Given the description of an element on the screen output the (x, y) to click on. 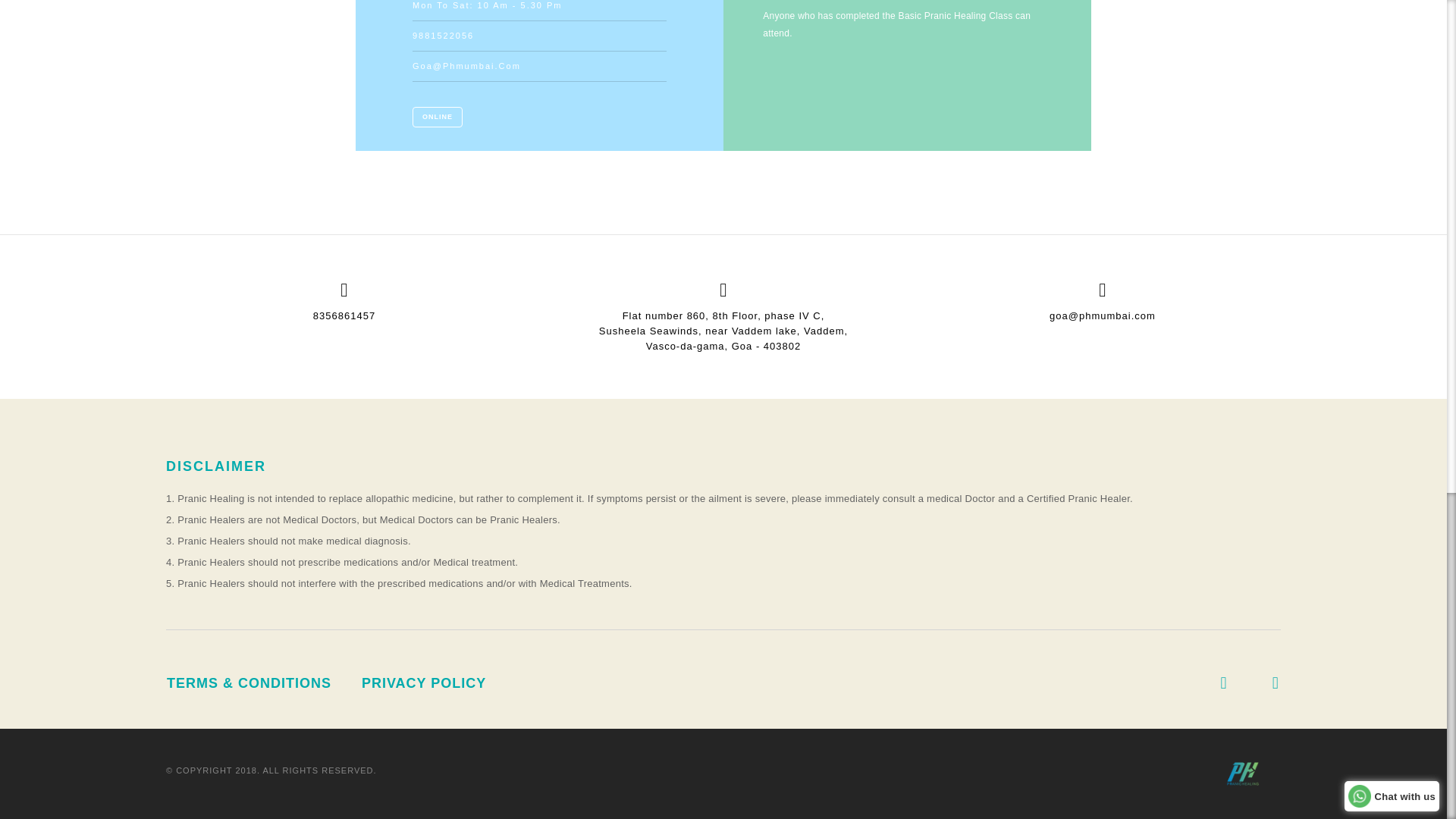
8356861457 (344, 315)
ONLINE (437, 117)
PRIVACY POLICY (423, 683)
